Given the description of an element on the screen output the (x, y) to click on. 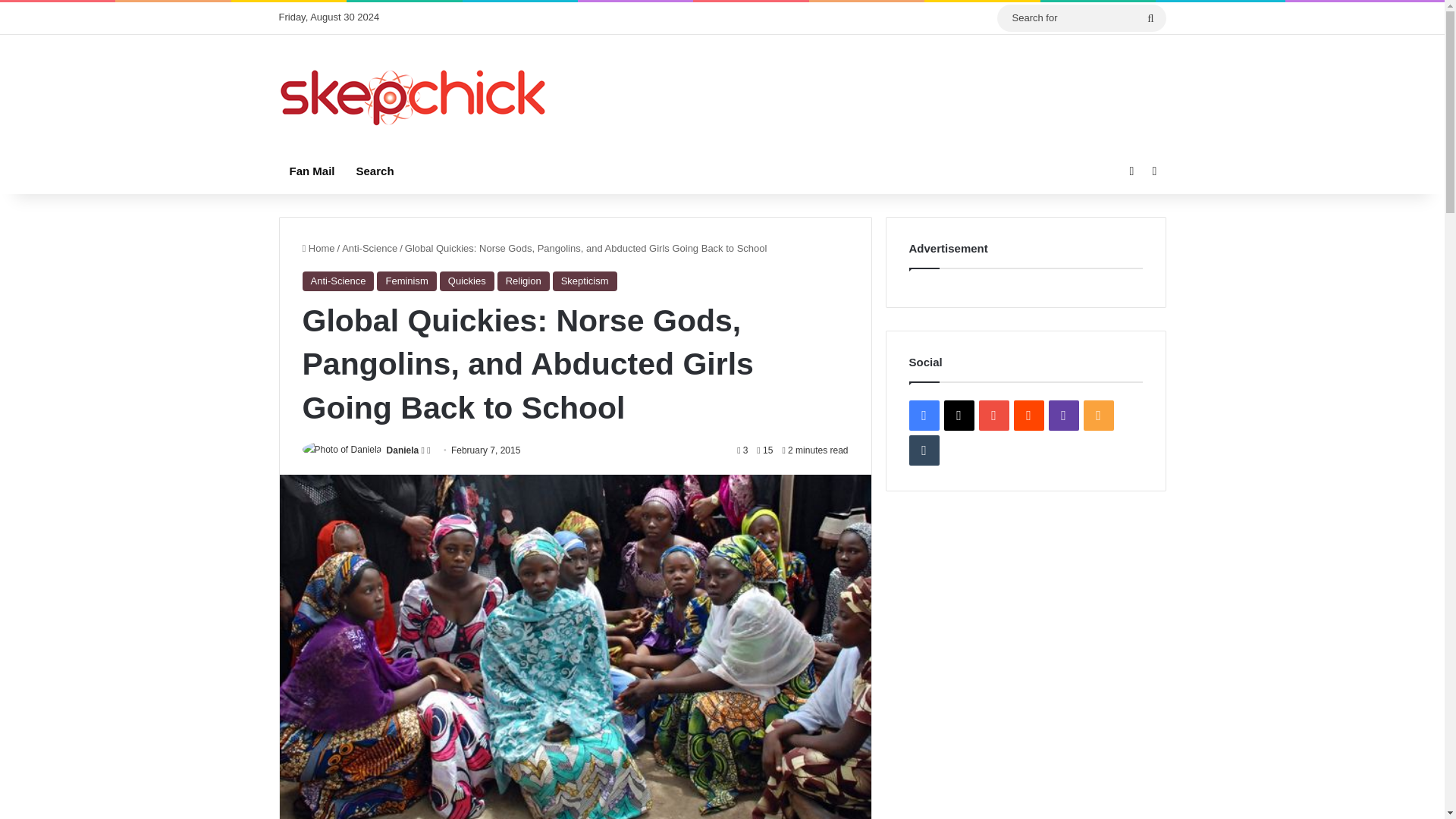
Skepticism (585, 281)
Daniela (403, 450)
Anti-Science (369, 247)
Feminism (406, 281)
Home (317, 247)
Daniela (403, 450)
Search (375, 171)
Search for (1150, 17)
Religion (523, 281)
Anti-Science (337, 281)
